Given the description of an element on the screen output the (x, y) to click on. 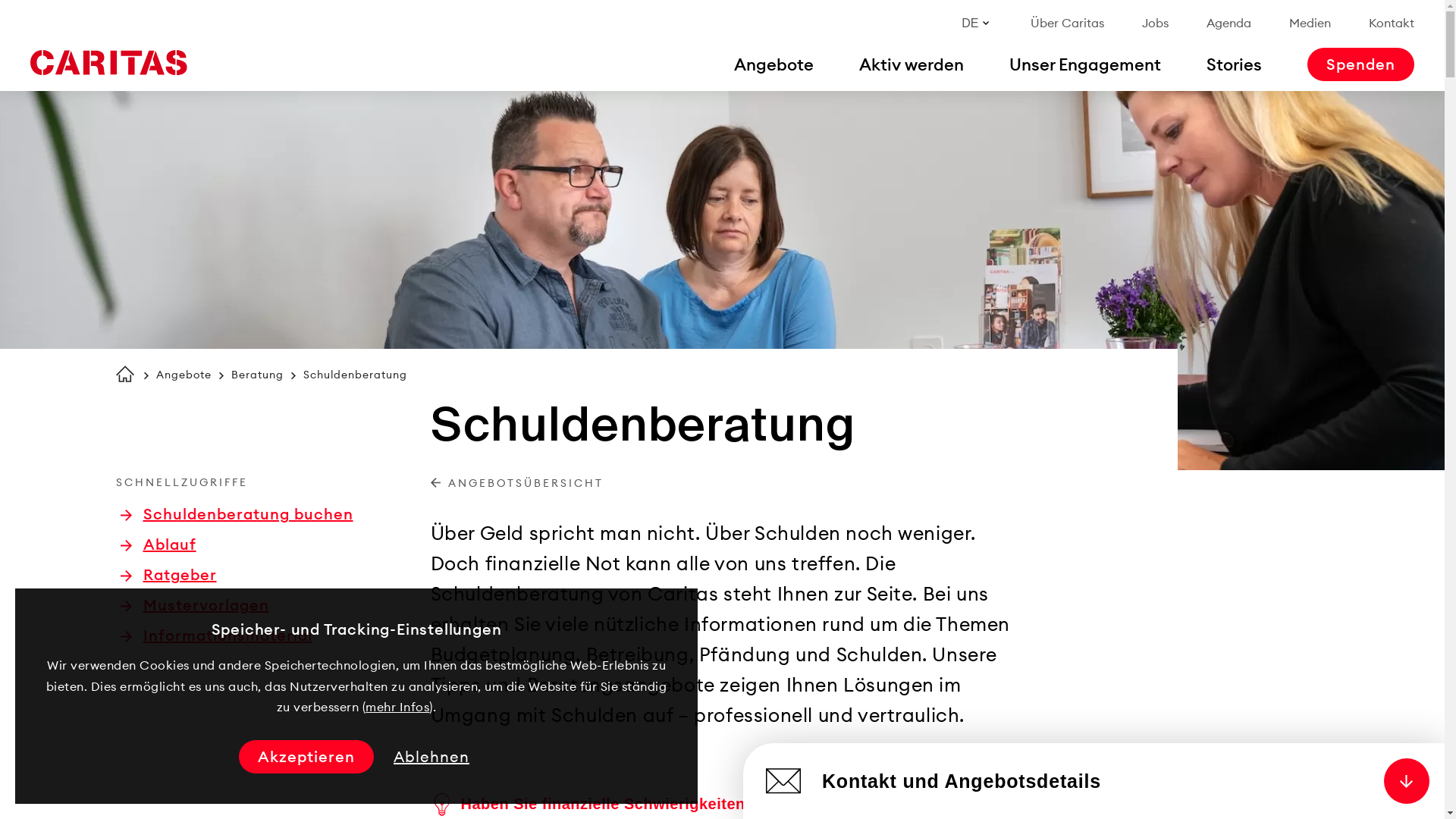
Akzeptieren Element type: text (305, 756)
Schuldenberatung buchen Element type: text (236, 514)
Medien Element type: text (1309, 22)
Mustervorlagen Element type: text (194, 605)
Startseite Element type: text (124, 373)
Angebote Element type: text (183, 375)
Spenden Element type: text (1360, 64)
Informationsmaterial Element type: text (215, 635)
Kontakt Element type: text (1391, 22)
mehr Infos Element type: text (397, 706)
Angebote Element type: text (773, 64)
Beratung Element type: text (256, 375)
Unser Engagement Element type: text (1085, 64)
Ratgeber Element type: text (167, 574)
Aktiv werden Element type: text (911, 64)
Open sub menu Element type: text (18, 18)
Jobs Element type: text (1155, 22)
Ablehnen Element type: text (431, 756)
Agenda Element type: text (1228, 22)
Stories Element type: text (1233, 64)
Startseite Element type: text (108, 62)
Ablauf Element type: text (157, 544)
